Given the description of an element on the screen output the (x, y) to click on. 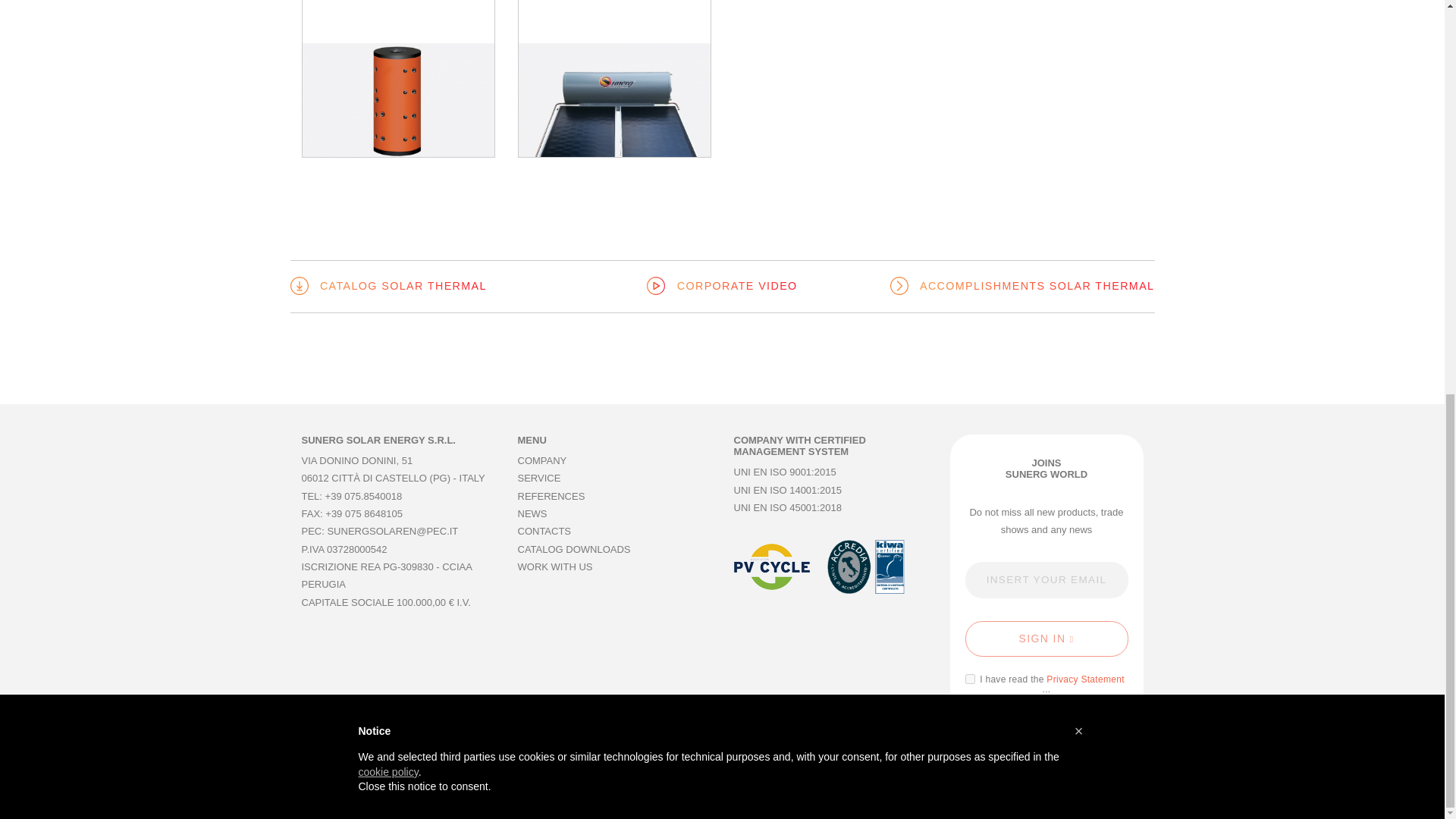
1 (968, 678)
